Given the description of an element on the screen output the (x, y) to click on. 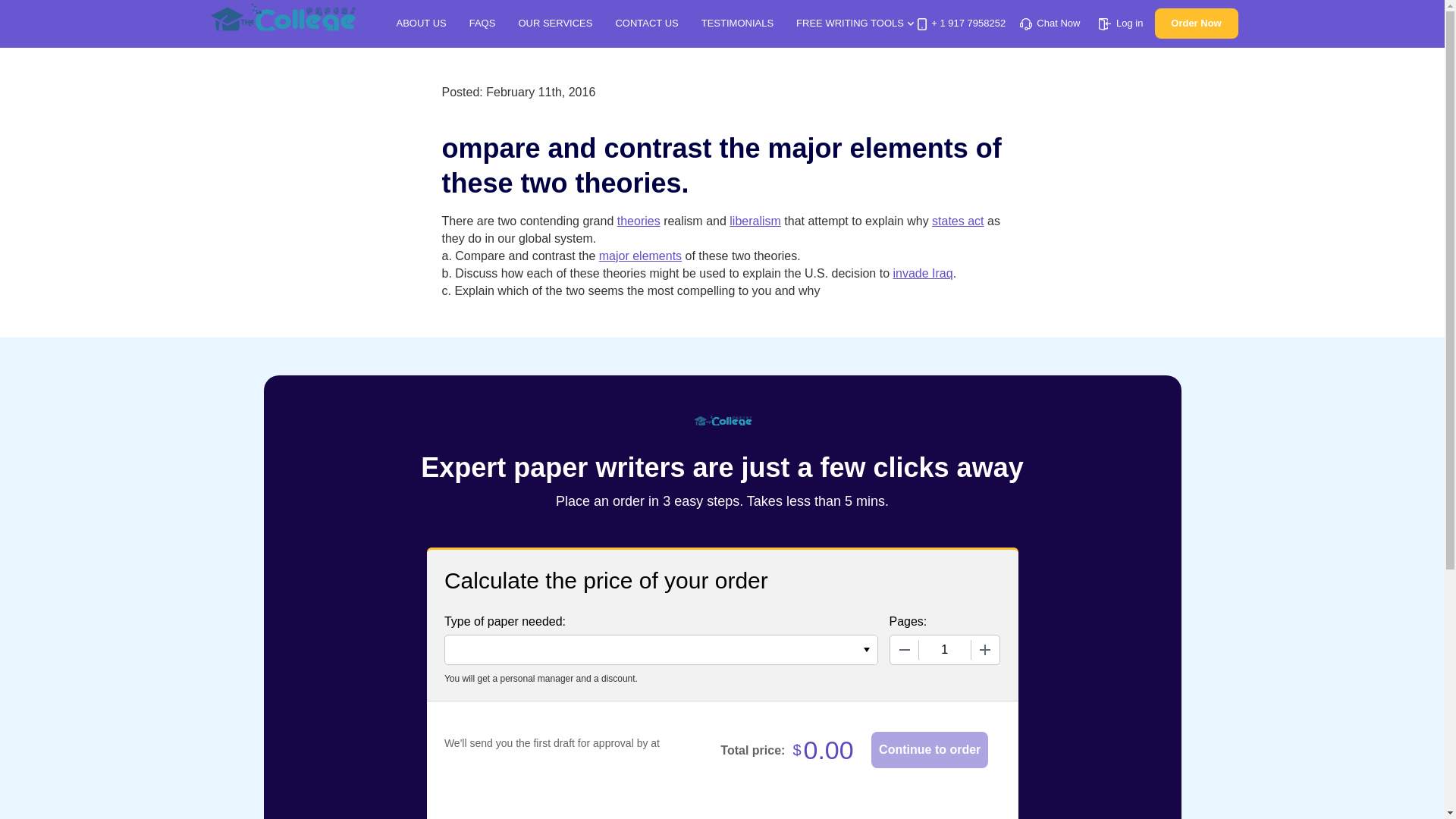
theories (639, 220)
liberalism (754, 220)
FREE WRITING TOOLS (855, 23)
OUR SERVICES (555, 22)
TESTIMONIALS (737, 22)
ABOUT US (420, 22)
Order Now (1195, 23)
FAQS (482, 22)
invade Iraq (923, 273)
Increase (984, 649)
